Given the description of an element on the screen output the (x, y) to click on. 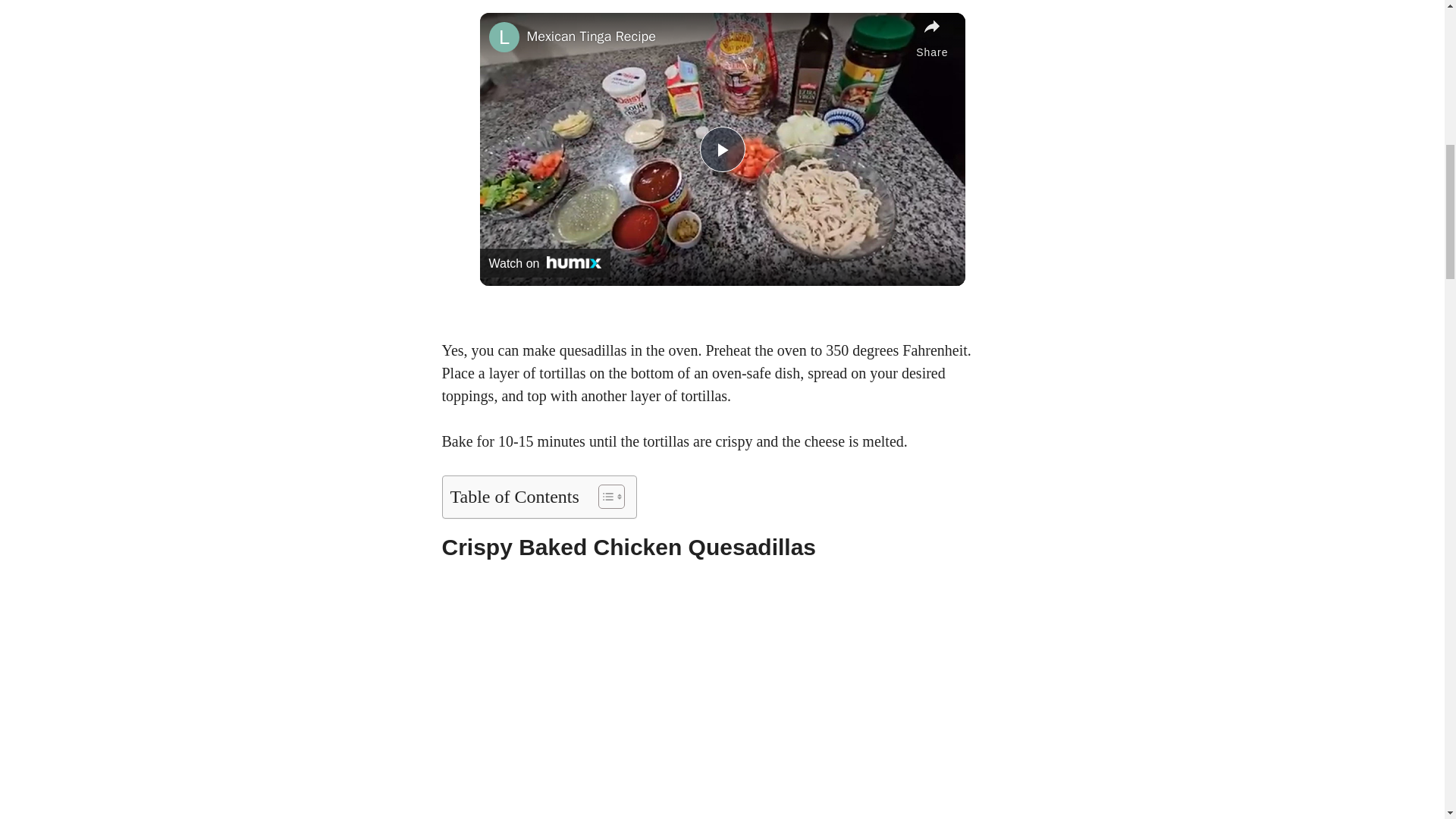
Play Video (721, 148)
share (931, 38)
PLAY VIDEO (721, 148)
